Given the description of an element on the screen output the (x, y) to click on. 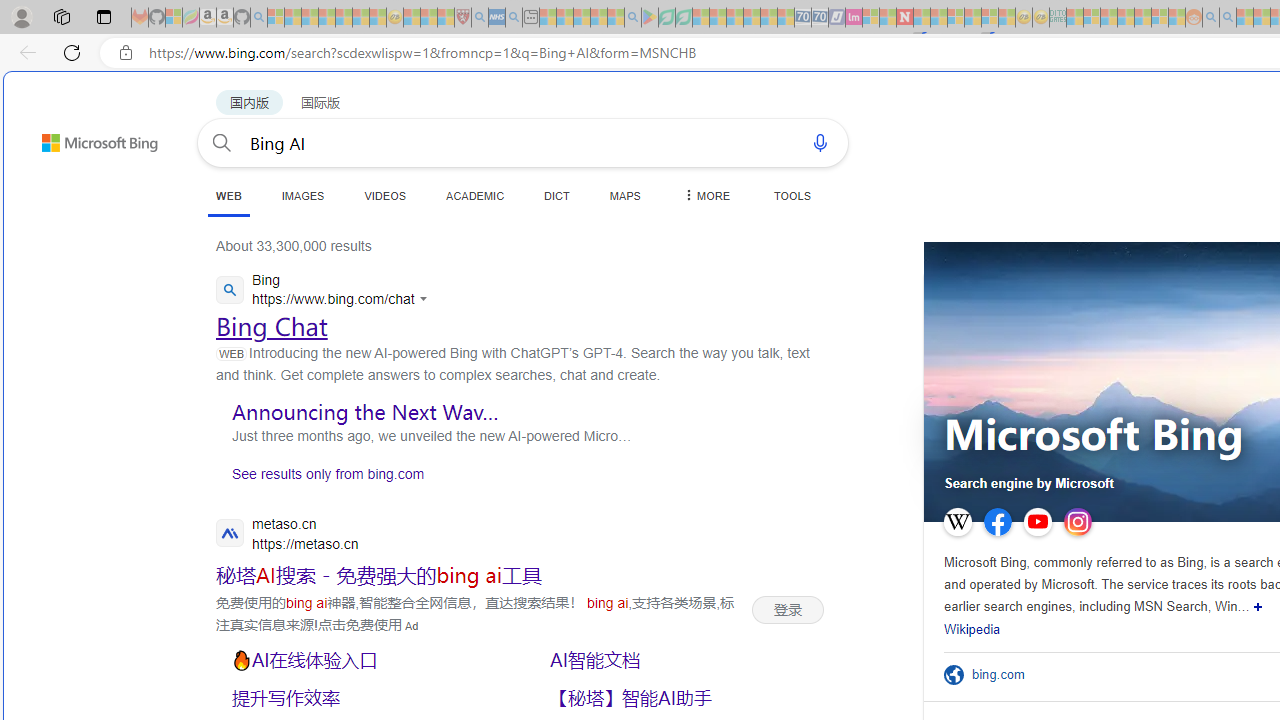
Wikipedia (972, 629)
bing.com (1003, 674)
Search button (221, 142)
MAPS (624, 195)
DICT (557, 195)
Global web icon (229, 290)
ACADEMIC (475, 195)
SERP,5519 (365, 697)
ACADEMIC (475, 195)
